Given the description of an element on the screen output the (x, y) to click on. 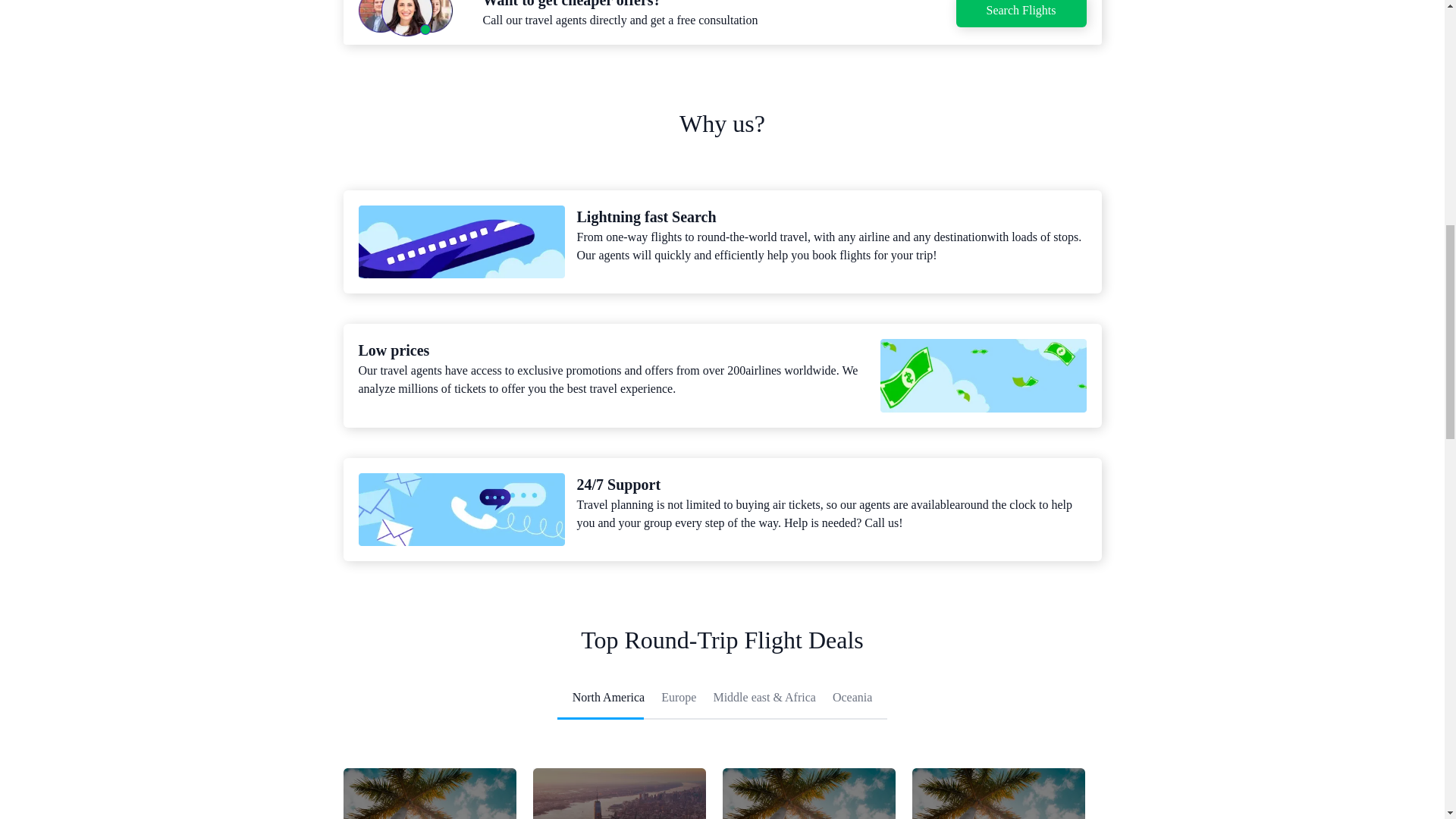
Europe (678, 698)
Oceania (852, 698)
Search Flights (1020, 10)
North America (608, 698)
